Given the description of an element on the screen output the (x, y) to click on. 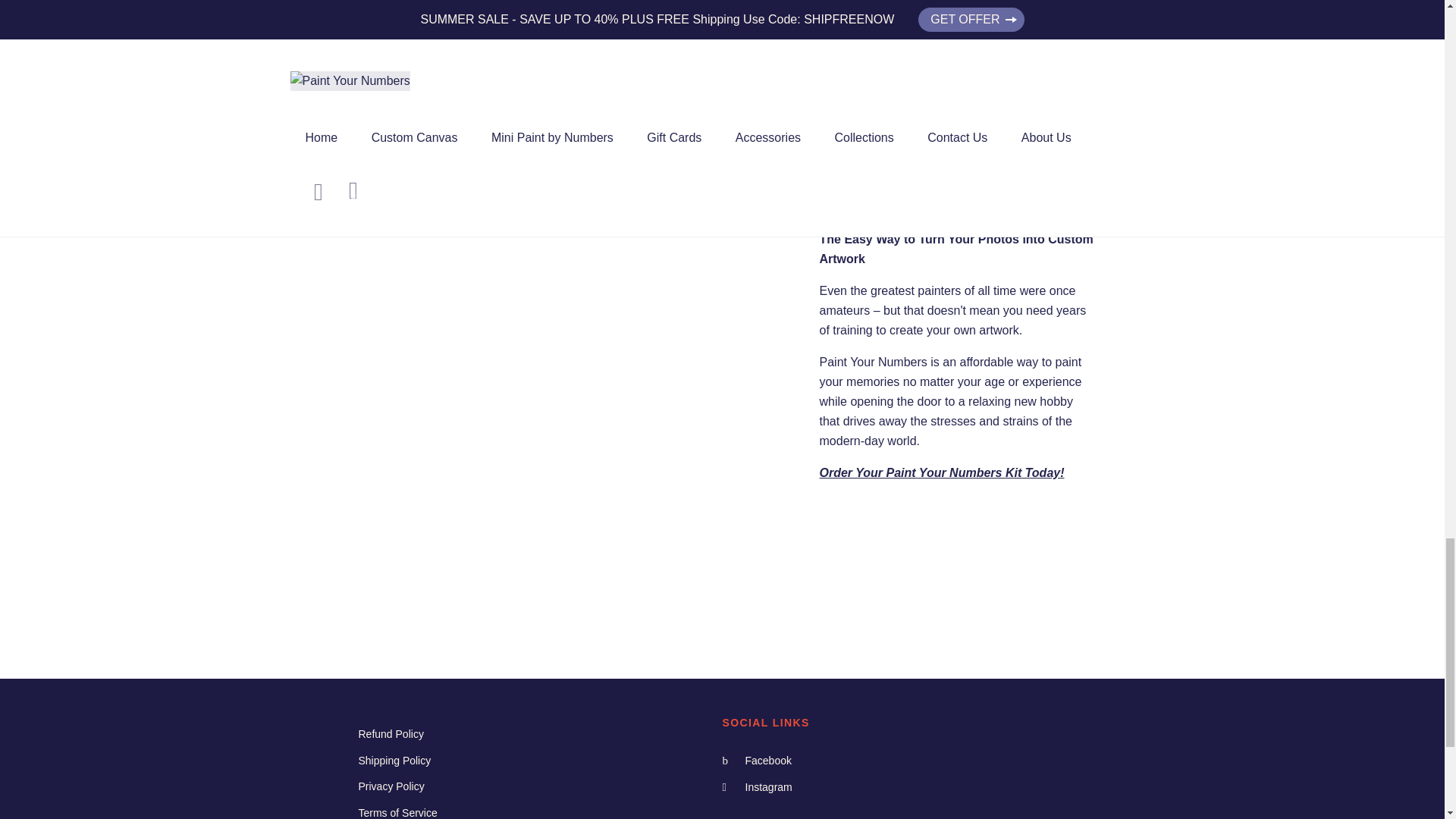
Shipping Policy (394, 760)
Privacy Policy (390, 786)
Refund Policy (390, 734)
